Given the description of an element on the screen output the (x, y) to click on. 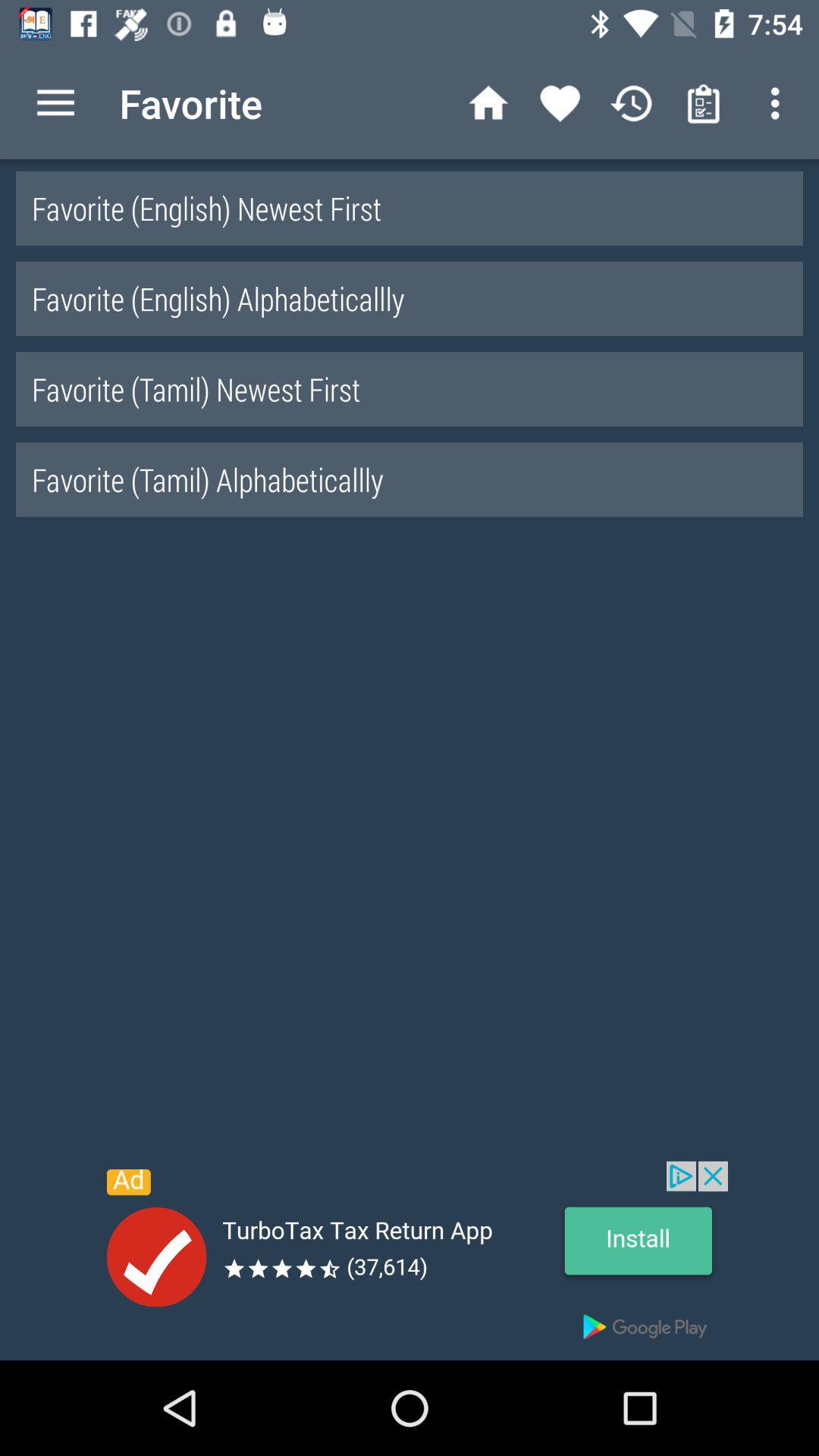
select advertisement (409, 1260)
